Given the description of an element on the screen output the (x, y) to click on. 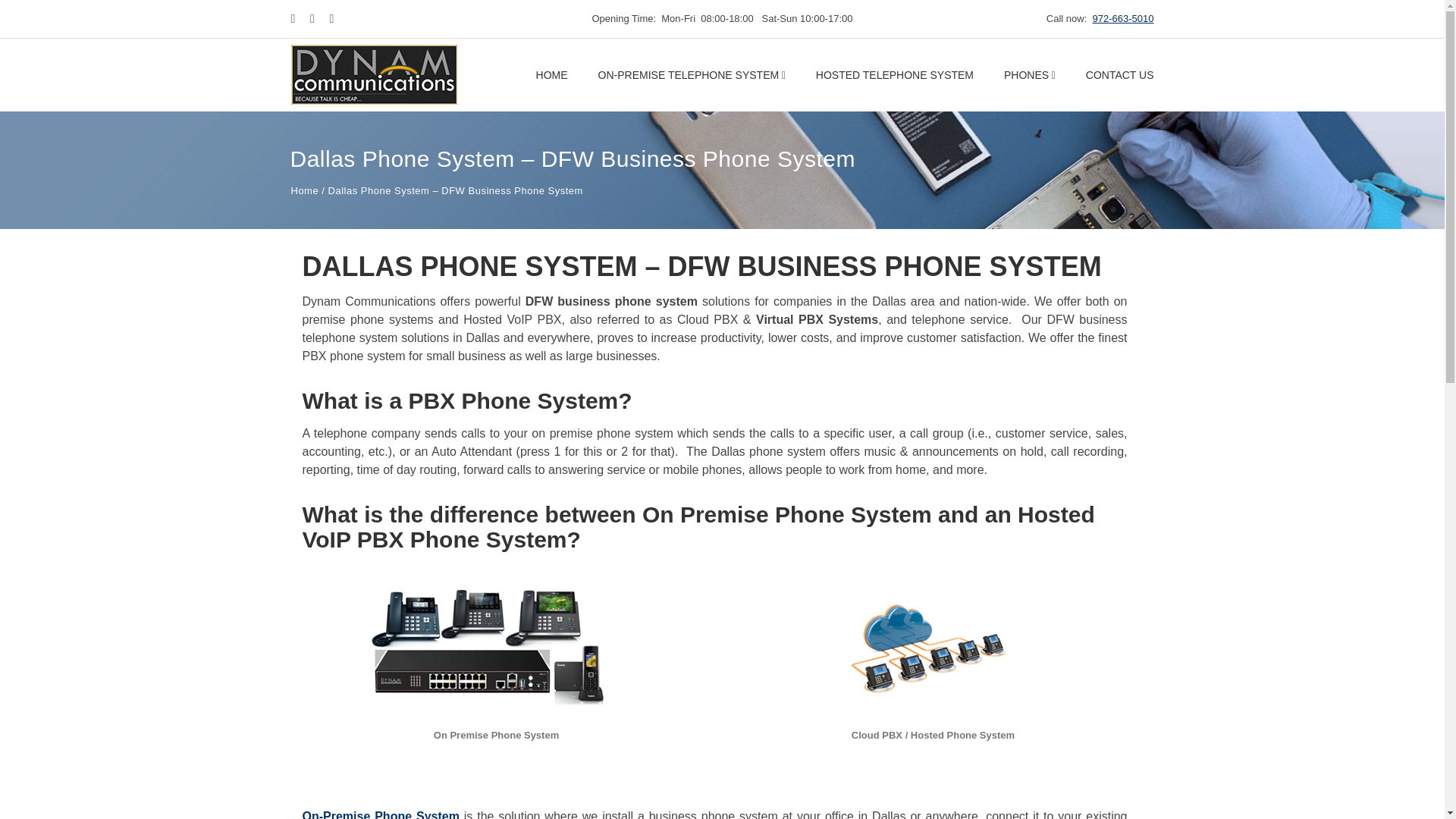
On-Premise Phone System (379, 814)
Home (304, 190)
ON-PREMISE TELEPHONE SYSTEM (692, 74)
HOSTED TELEPHONE SYSTEM (894, 74)
972-663-5010 (1123, 18)
PHONES (1029, 74)
CONTACT US (1120, 74)
HOME (551, 74)
Go to Phone Repair. (304, 190)
